Given the description of an element on the screen output the (x, y) to click on. 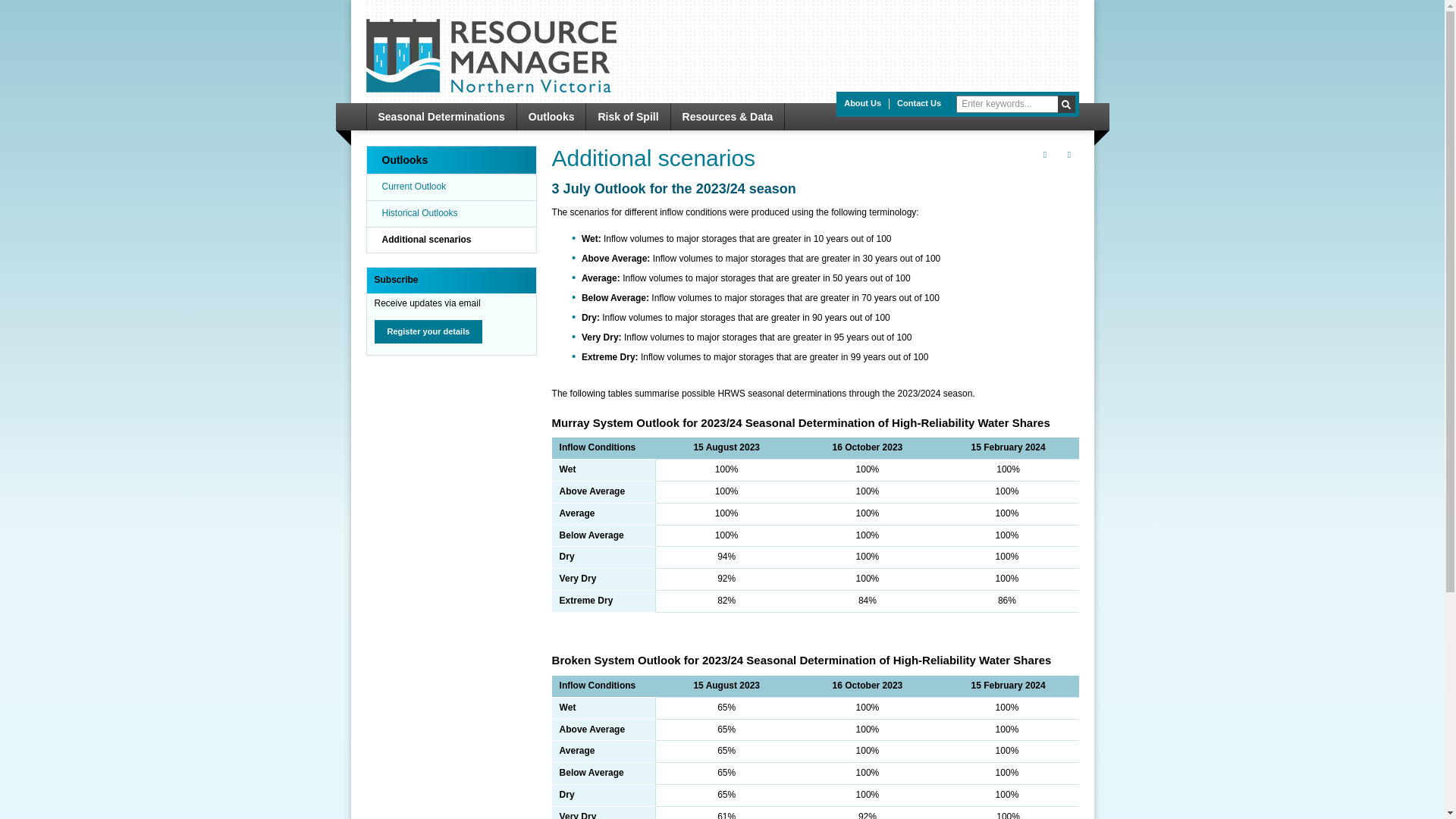
Risk of Spill Element type: text (627, 116)
Contact Us Element type: text (919, 101)
Seasonal Determinations Element type: text (441, 116)
Toggle Text Size Element type: text (1069, 154)
Outlooks Element type: text (451, 159)
Resources & Data Element type: text (727, 116)
Register your details Element type: text (428, 331)
Historical Outlooks Element type: text (451, 213)
About Us Element type: text (862, 101)
Additional scenarios Element type: text (451, 240)
Search Element type: text (1065, 103)
Print Page Element type: text (1044, 154)
Current Outlook Element type: text (451, 187)
Outlooks Element type: text (551, 116)
Return to the home page Element type: hover (490, 89)
